Given the description of an element on the screen output the (x, y) to click on. 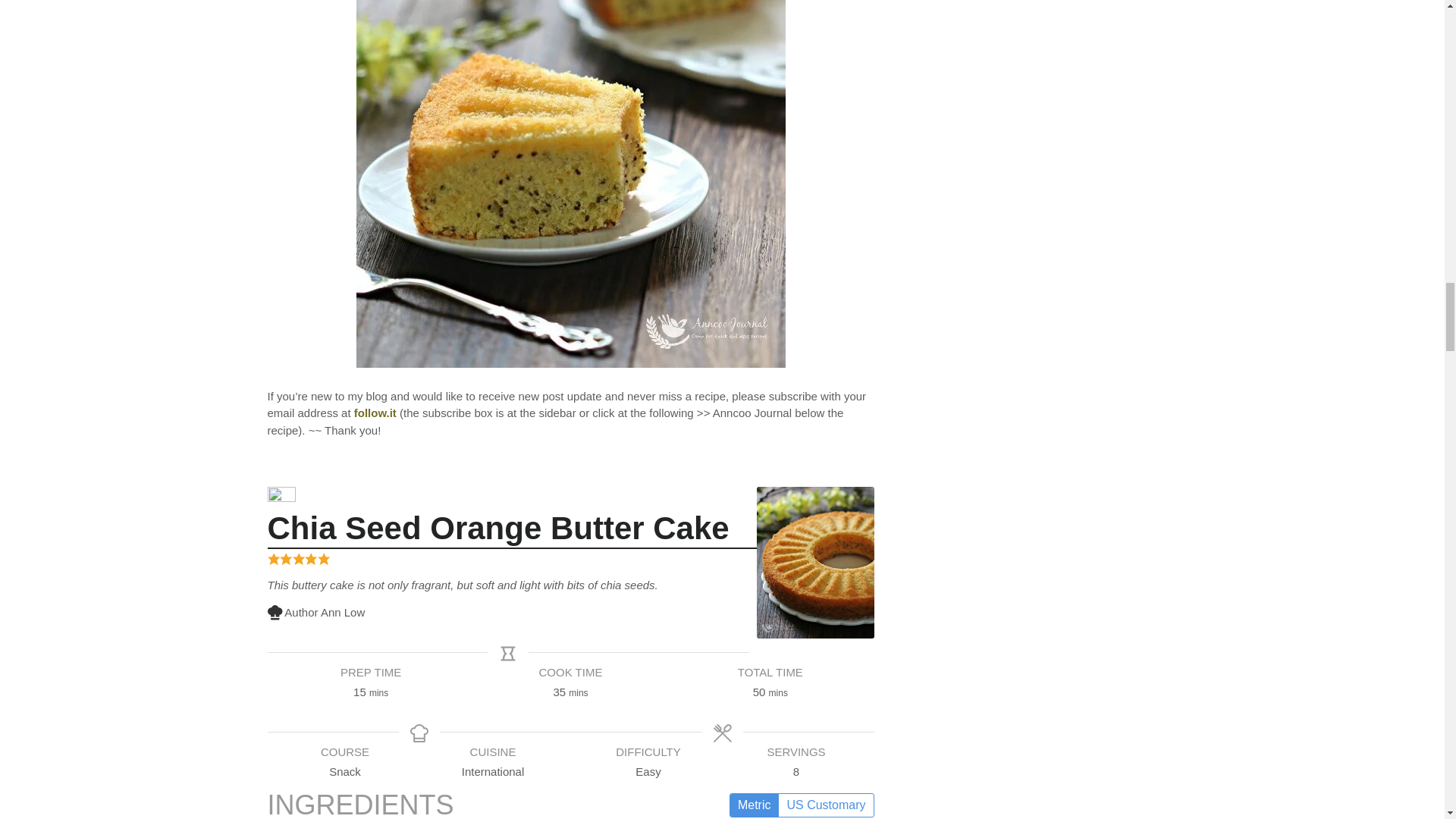
follow.it (374, 412)
Metric (754, 804)
US Customary (824, 804)
